Given the description of an element on the screen output the (x, y) to click on. 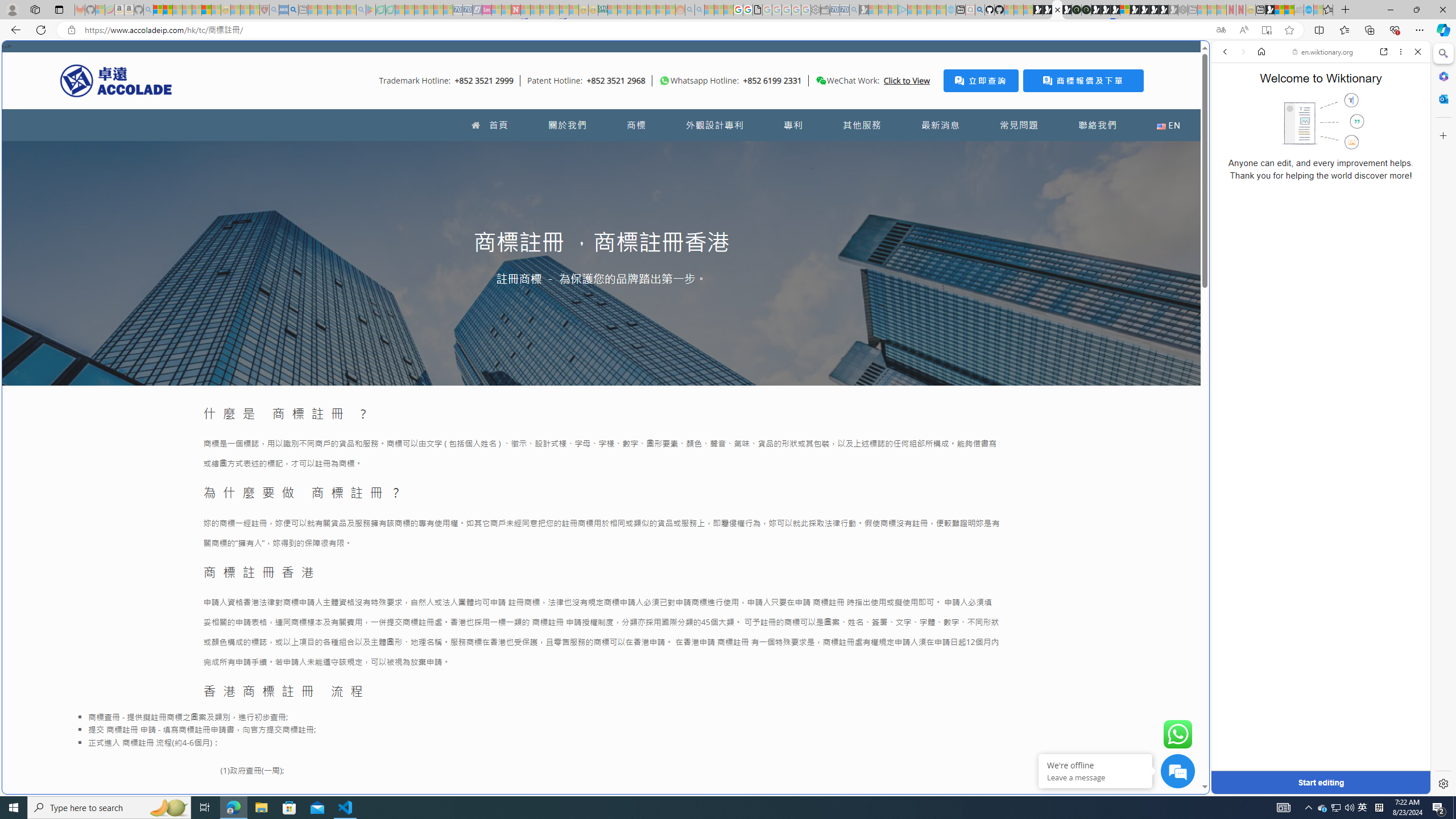
Play Cave FRVR in your browser | Games from Microsoft Start (922, 242)
Class: desktop (821, 80)
